Given the description of an element on the screen output the (x, y) to click on. 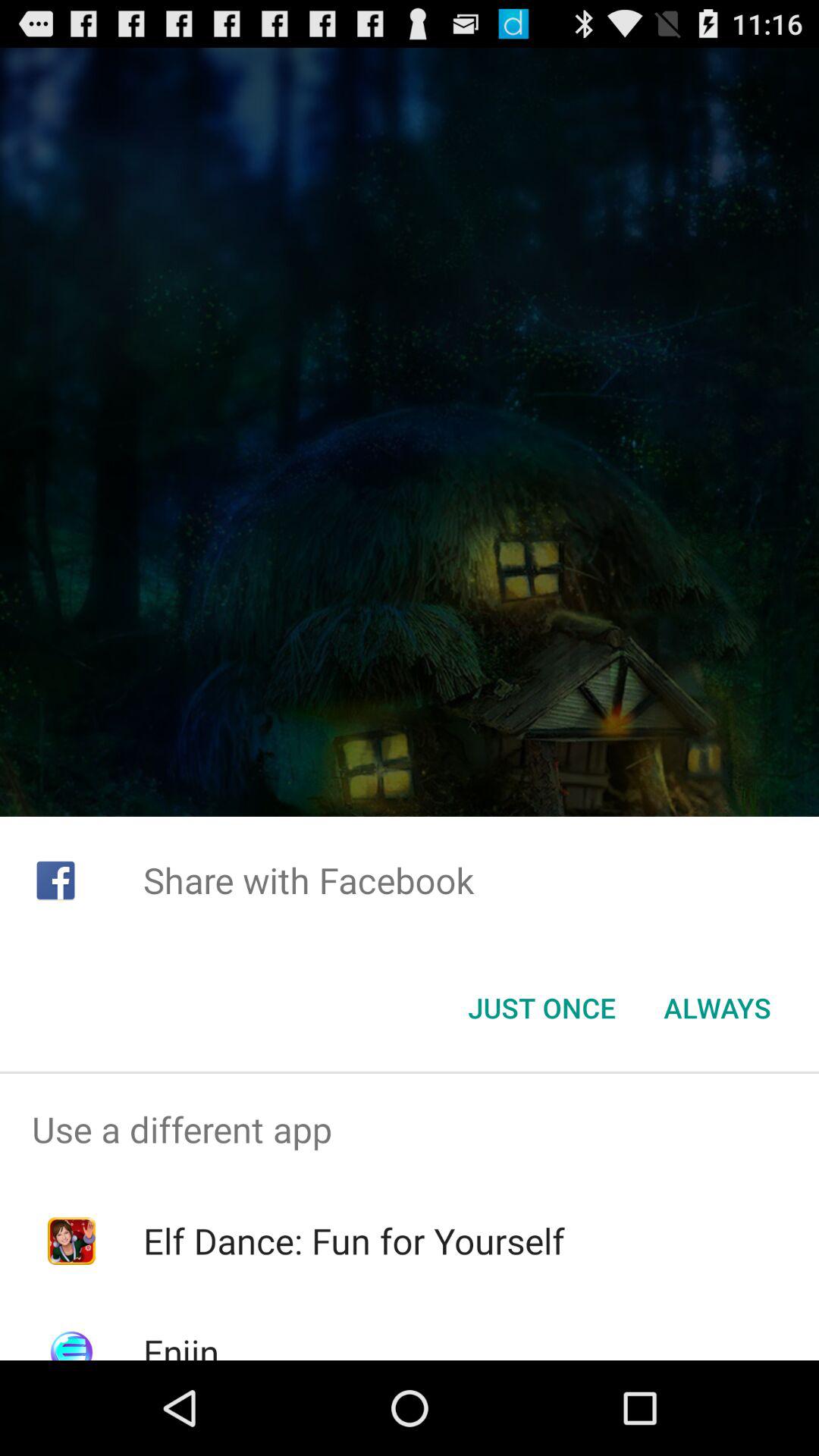
turn on the icon to the left of always item (541, 1007)
